Given the description of an element on the screen output the (x, y) to click on. 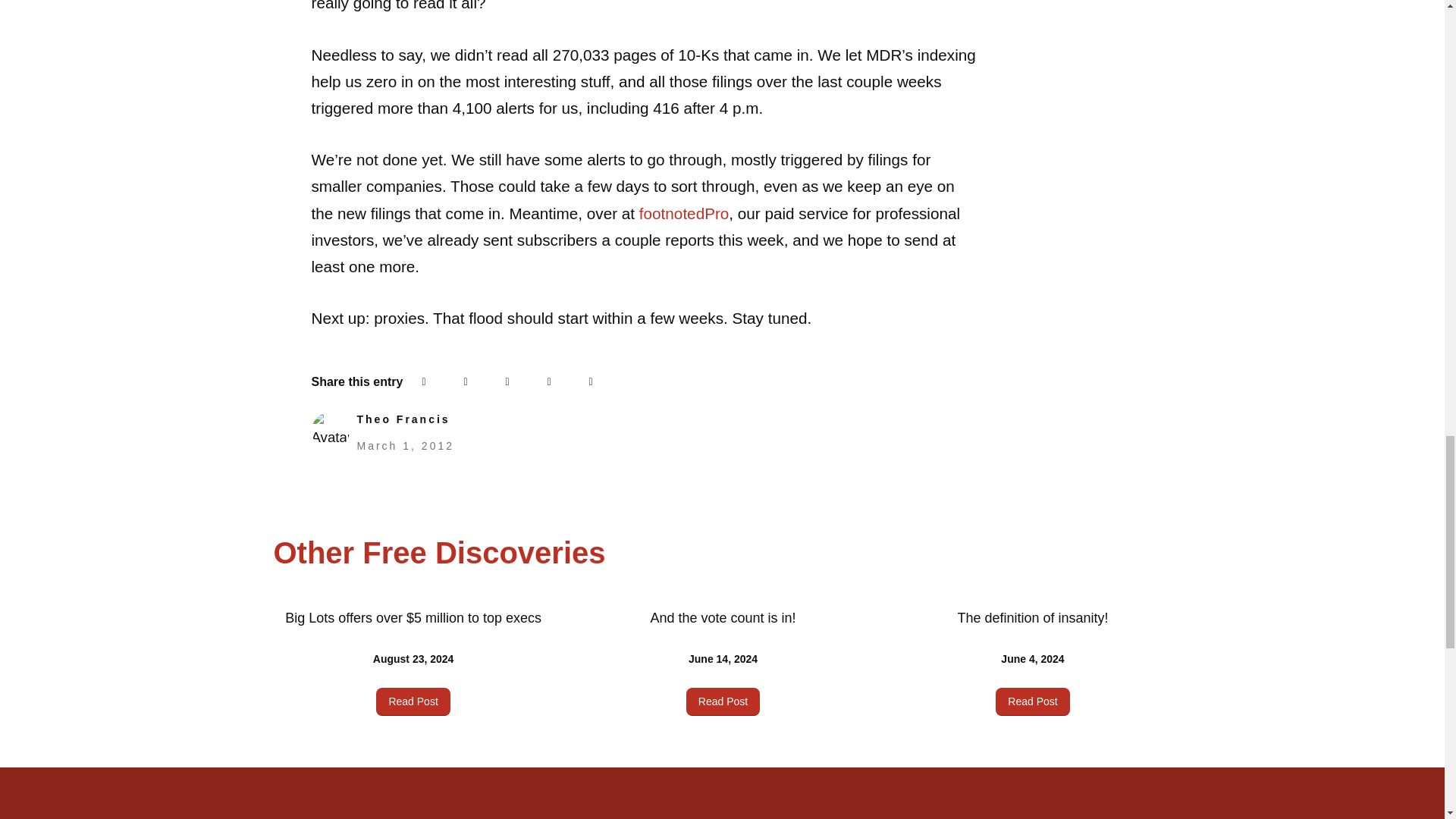
Posts by Theo Francis (402, 419)
The definition of insanity! (1032, 617)
footnotedPro (684, 212)
Read Post (722, 701)
Read Post (412, 701)
Read Post (1031, 701)
Theo Francis (402, 419)
And the vote count is in! (721, 617)
